Given the description of an element on the screen output the (x, y) to click on. 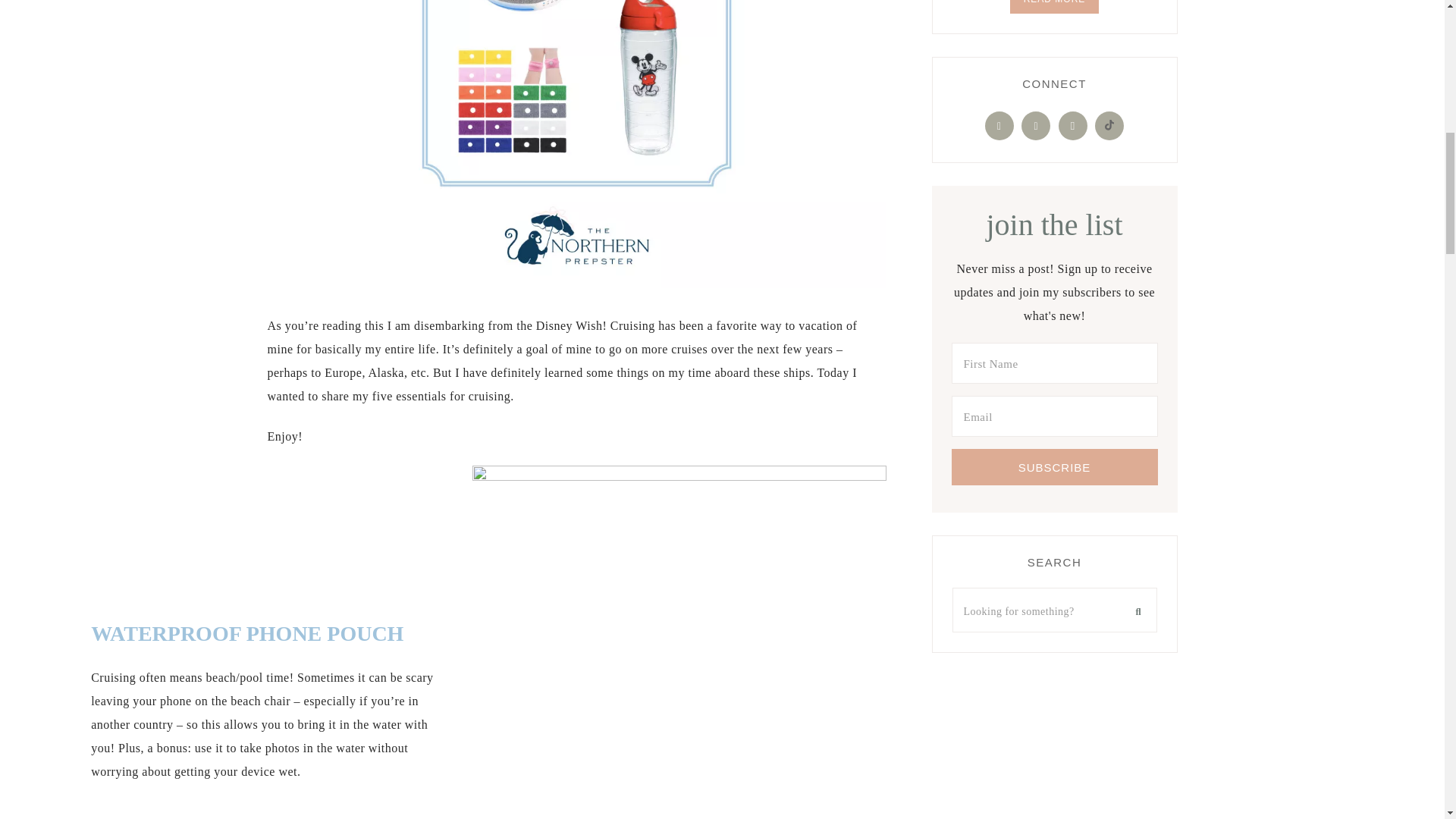
Subscribe (1053, 466)
